Given the description of an element on the screen output the (x, y) to click on. 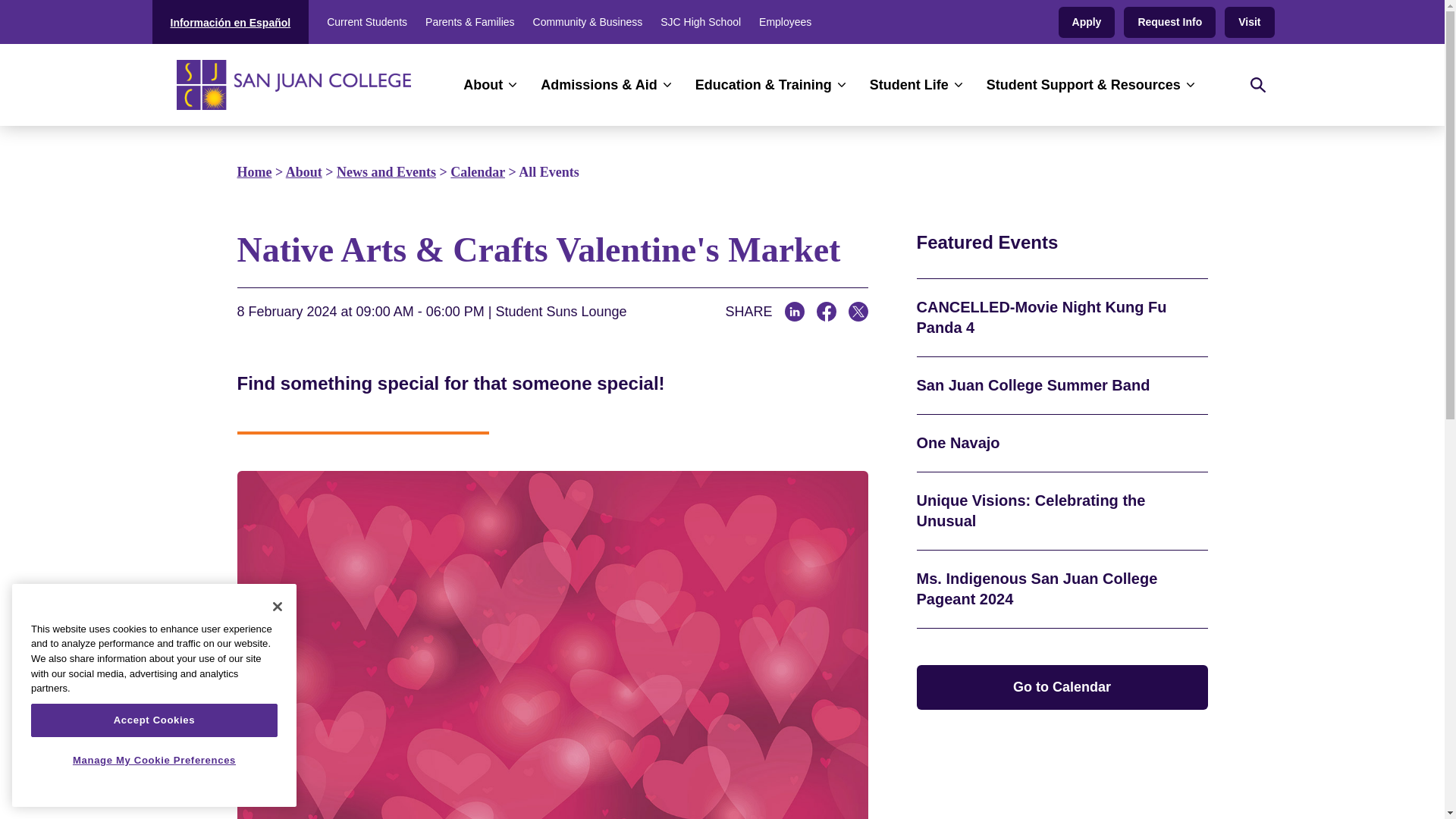
Skip to main content (721, 21)
About (489, 84)
Student Life (915, 84)
